Given the description of an element on the screen output the (x, y) to click on. 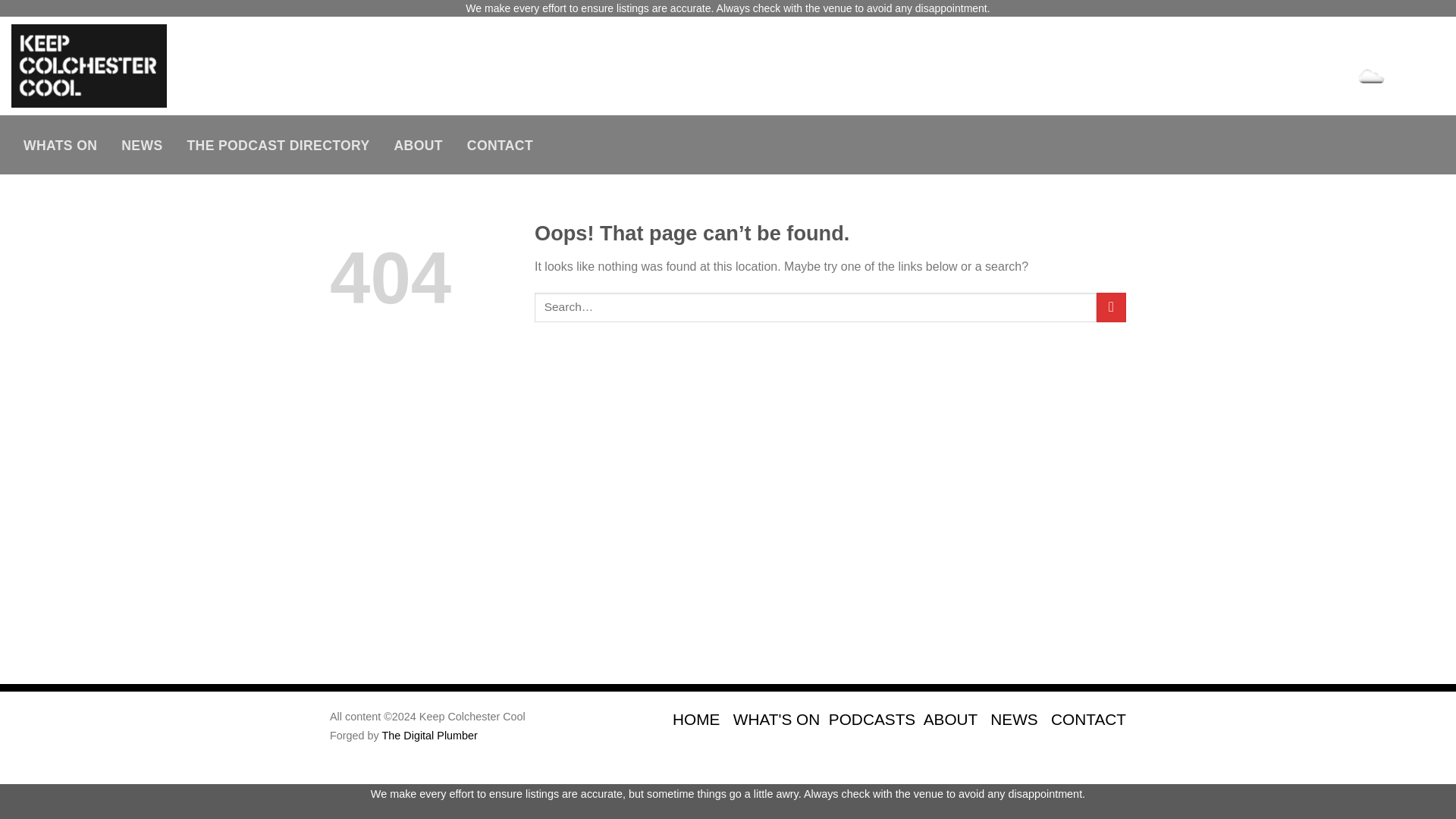
Follow on Instagram (1366, 47)
Todays Weather (1356, 77)
Send us an email (1419, 47)
Follow on Twitter (1393, 47)
HOME (695, 719)
WHATS ON (60, 144)
THE PODCAST DIRECTORY (277, 144)
NEWS (141, 144)
WHAT'S ON (777, 719)
